Given the description of an element on the screen output the (x, y) to click on. 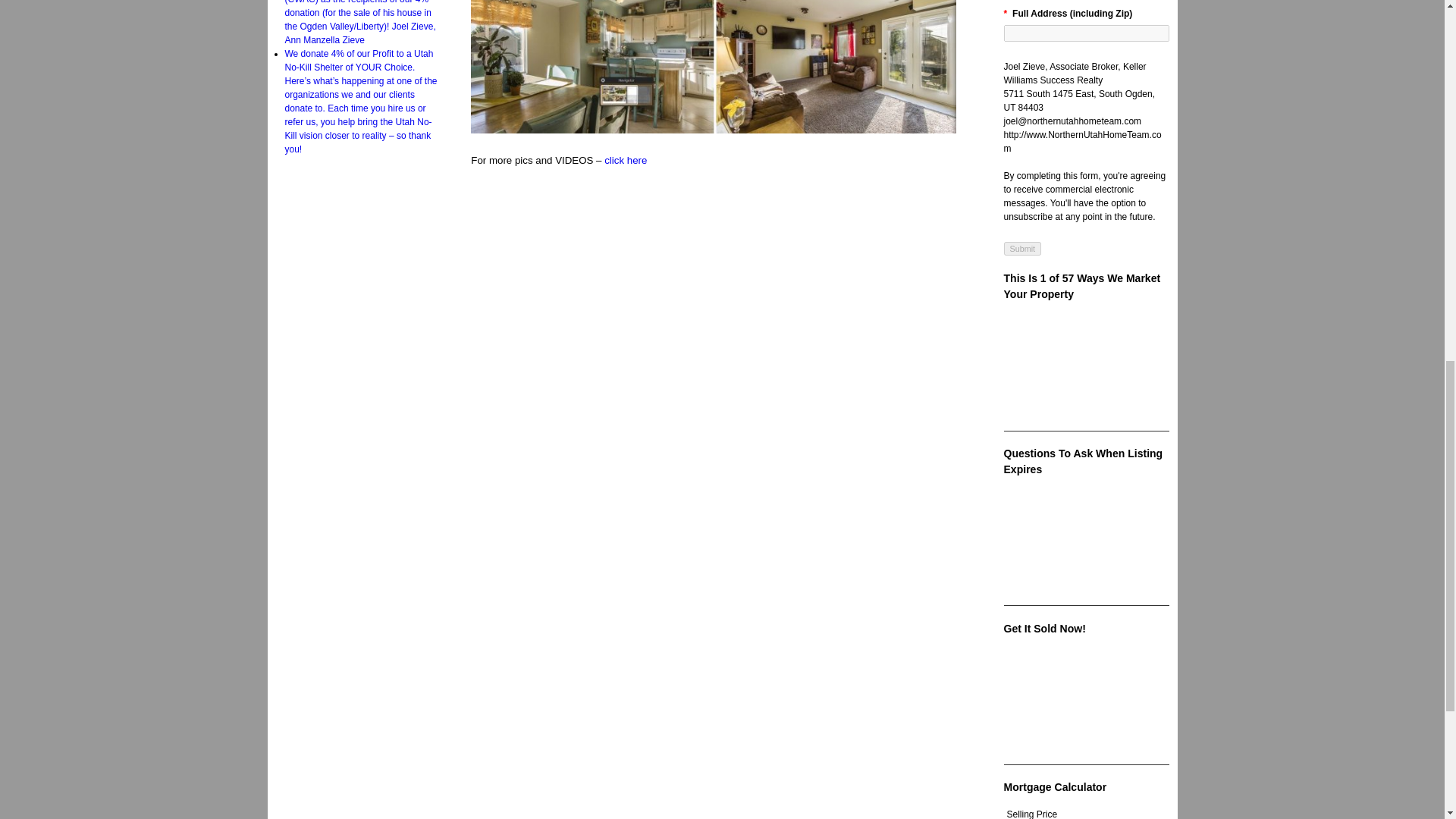
click here (625, 160)
Roy Utah home for sale (625, 160)
Submit (1023, 248)
